Given the description of an element on the screen output the (x, y) to click on. 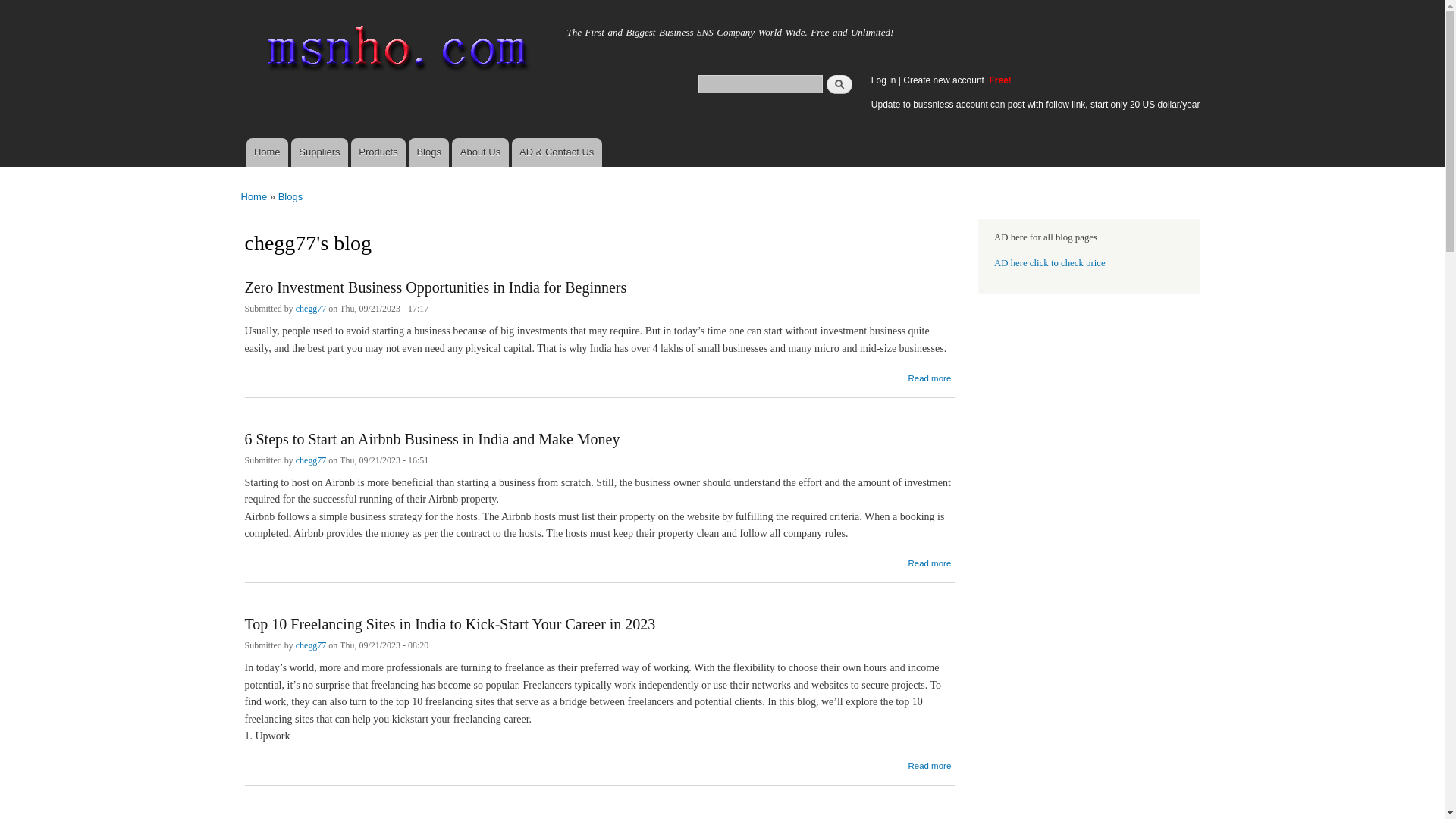
6 Steps to Start an Airbnb Business in India and Make Money (432, 431)
About us (479, 152)
Home (394, 51)
View user profile. (310, 461)
Home (254, 196)
msnho.com (282, 28)
About Us (479, 152)
Search (839, 83)
View user profile. (310, 310)
A Beginner's Guide on How to Become a Freelancer (403, 811)
